Given the description of an element on the screen output the (x, y) to click on. 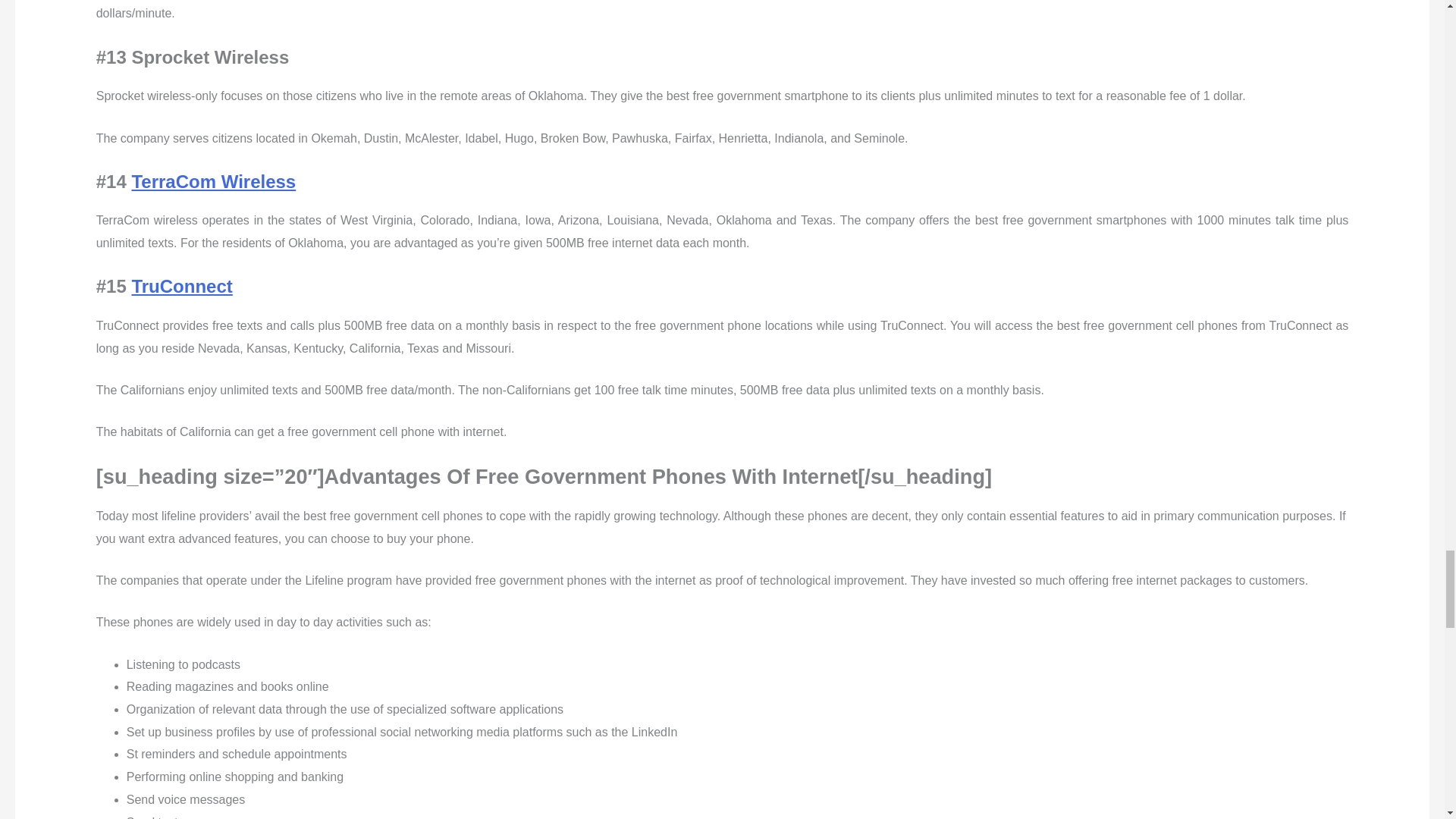
TerraCom Wireless (213, 181)
TruConnect (181, 286)
